Given the description of an element on the screen output the (x, y) to click on. 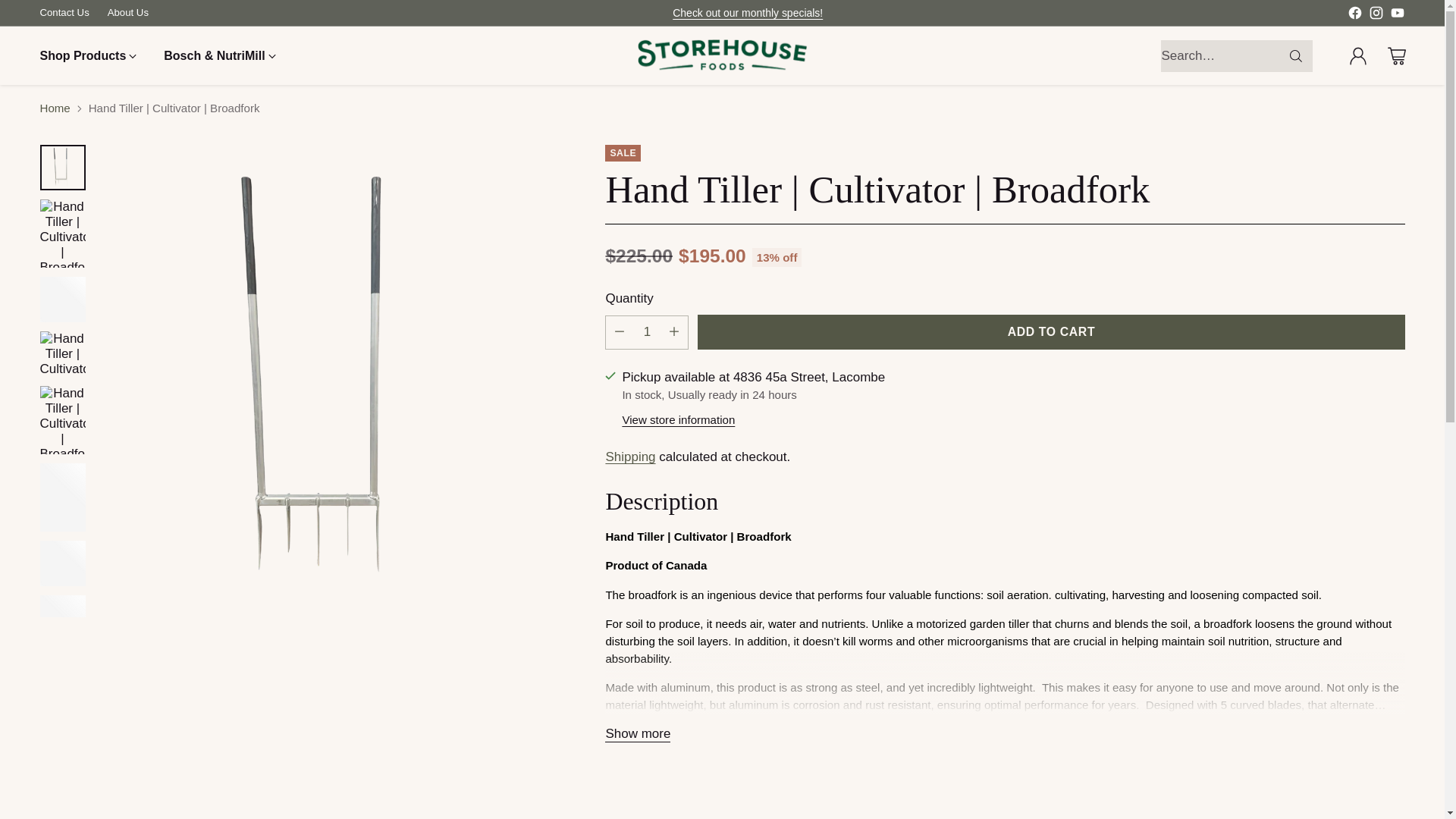
Contact Us (63, 12)
Shop Products (87, 55)
Check out our monthly specials! (747, 12)
About Us (127, 12)
Check out our monthly specials! (747, 12)
Check out our monthly specials! (747, 12)
